Given the description of an element on the screen output the (x, y) to click on. 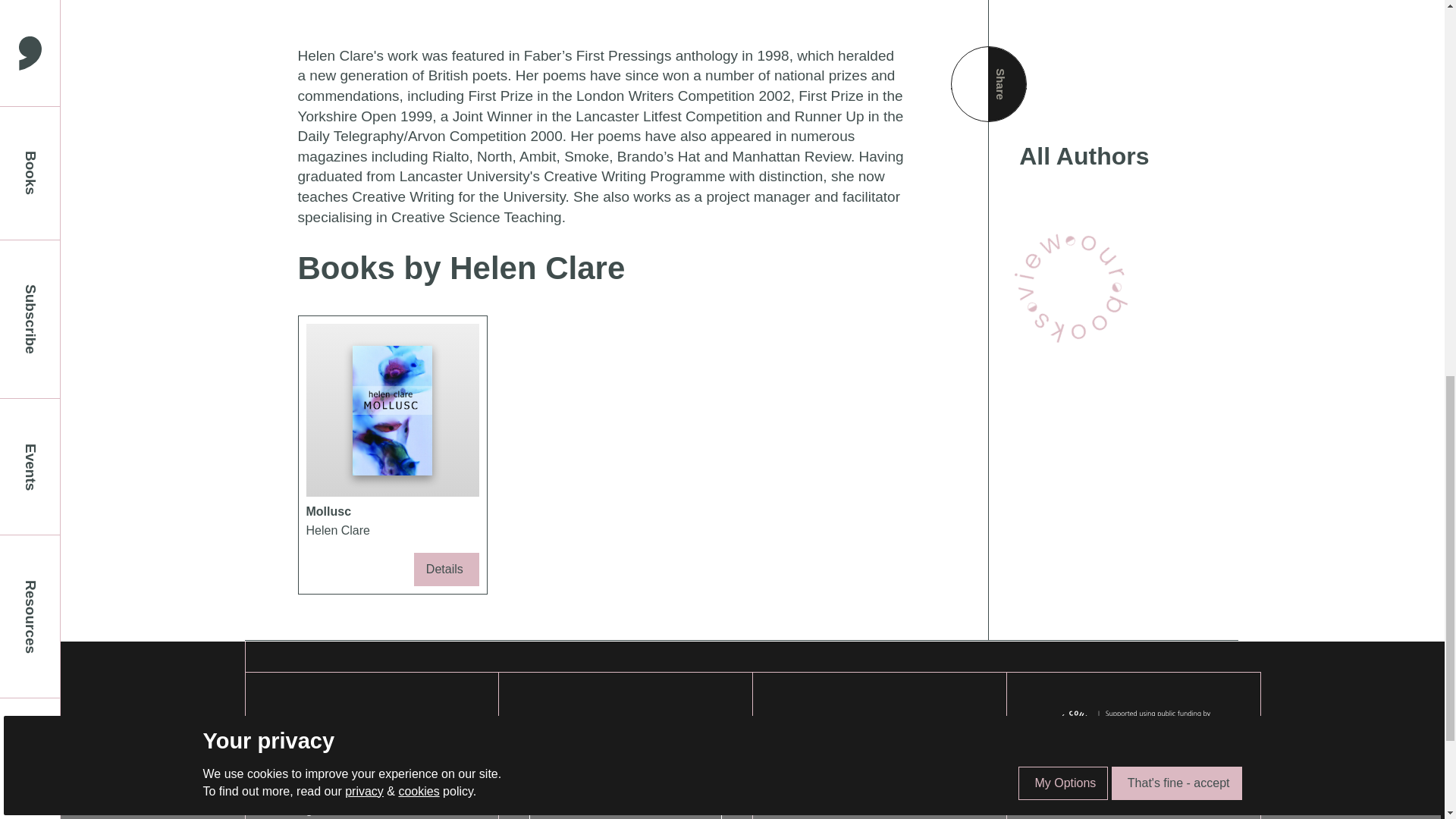
Trade Orders (849, 807)
About (849, 745)
View Our Books (1072, 285)
Contact (849, 766)
Instagram (304, 809)
Twitter (304, 787)
Facebook (304, 764)
All Authors (1113, 156)
Staff, Board and Patrons (849, 786)
